Given the description of an element on the screen output the (x, y) to click on. 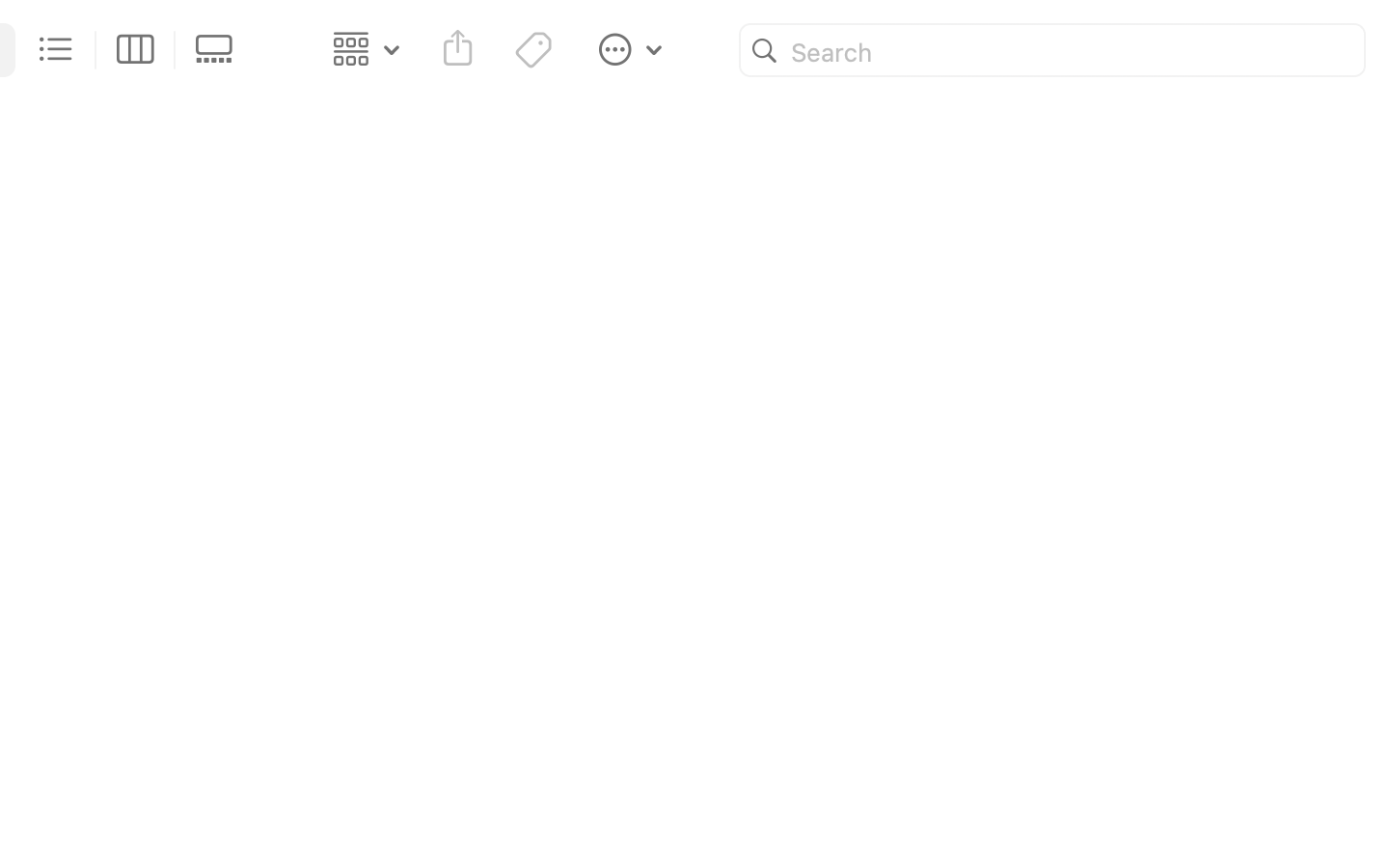
0 Element type: AXRadioButton (219, 49)
